Given the description of an element on the screen output the (x, y) to click on. 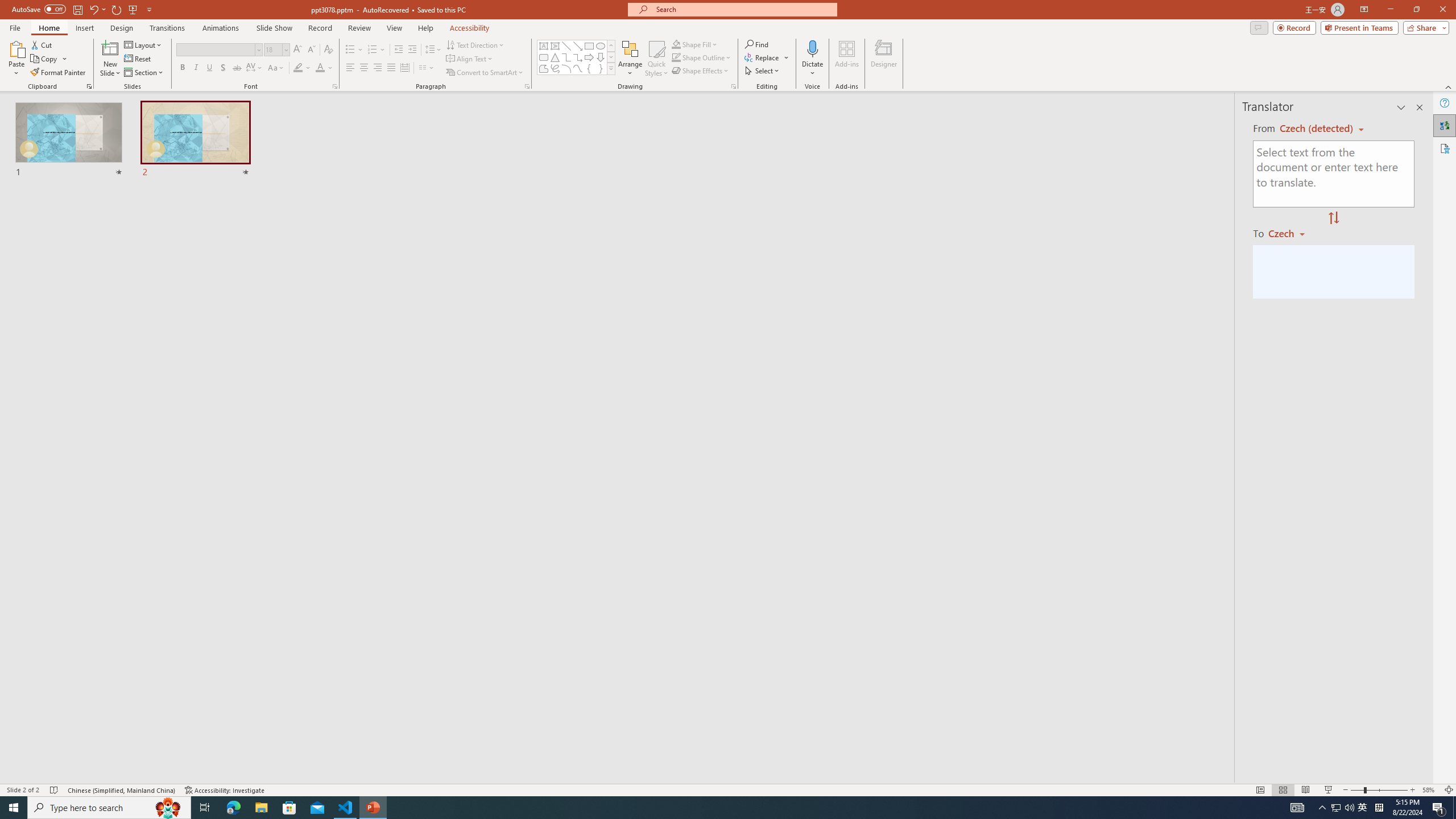
Connector: Elbow Arrow (577, 57)
File Tab (15, 27)
Change Case (276, 67)
Line Spacing (433, 49)
Arc (566, 68)
Comments (1259, 27)
Translator (1444, 125)
Arrange (630, 58)
Czech (1291, 232)
Dictate (812, 48)
Home (48, 28)
From Beginning (133, 9)
Numbering (376, 49)
Convert to SmartArt (485, 72)
Format Painter (58, 72)
